Given the description of an element on the screen output the (x, y) to click on. 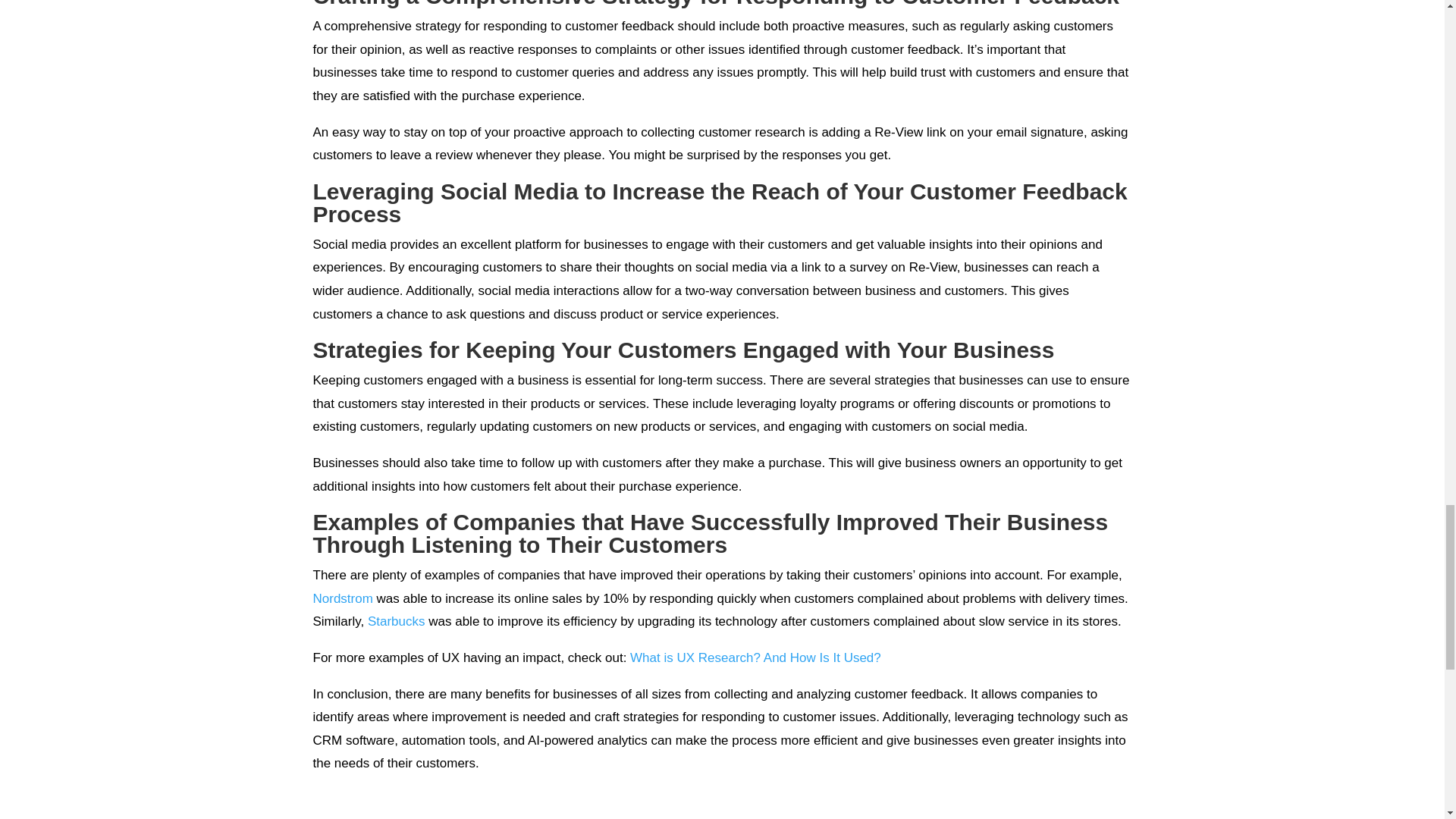
What is UX Research? And How Is It Used? (755, 657)
Nordstrom (342, 598)
Starbucks (396, 621)
